Given the description of an element on the screen output the (x, y) to click on. 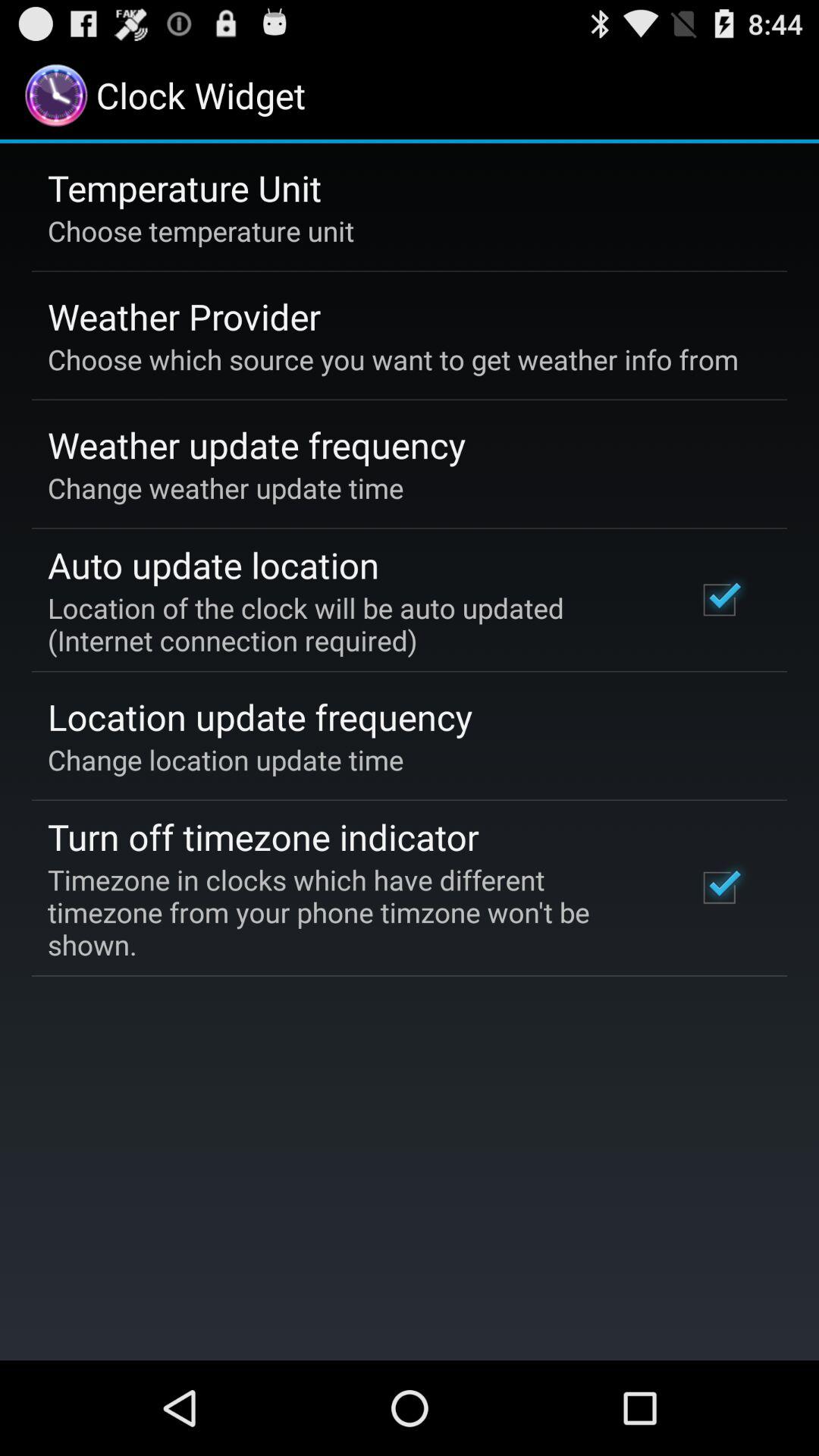
swipe to location of the (351, 624)
